Given the description of an element on the screen output the (x, y) to click on. 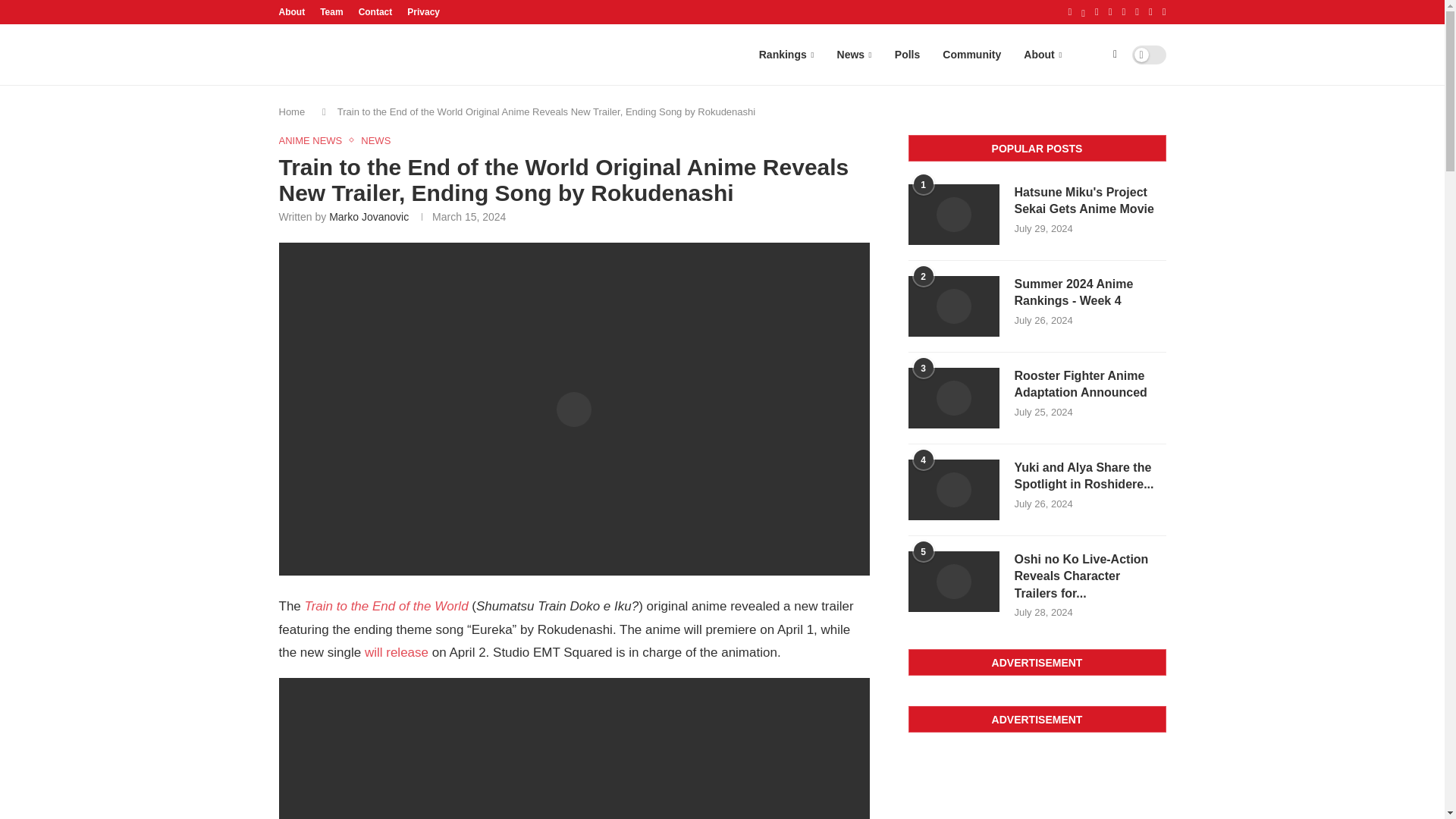
Community (971, 54)
Rooster Fighter Anime Adaptation Announced (1090, 384)
About (292, 12)
ANIME NEWS (314, 141)
Contact (375, 12)
Rooster Fighter Anime Adaptation Announced (953, 397)
Hatsune Miku's Project Sekai Gets Anime Movie (1090, 201)
Hatsune Miku's Project Sekai Gets Anime Movie (953, 214)
News (854, 54)
Home (292, 111)
About (1042, 54)
Summer 2024 Anime Rankings - Week 4 (1090, 293)
